Given the description of an element on the screen output the (x, y) to click on. 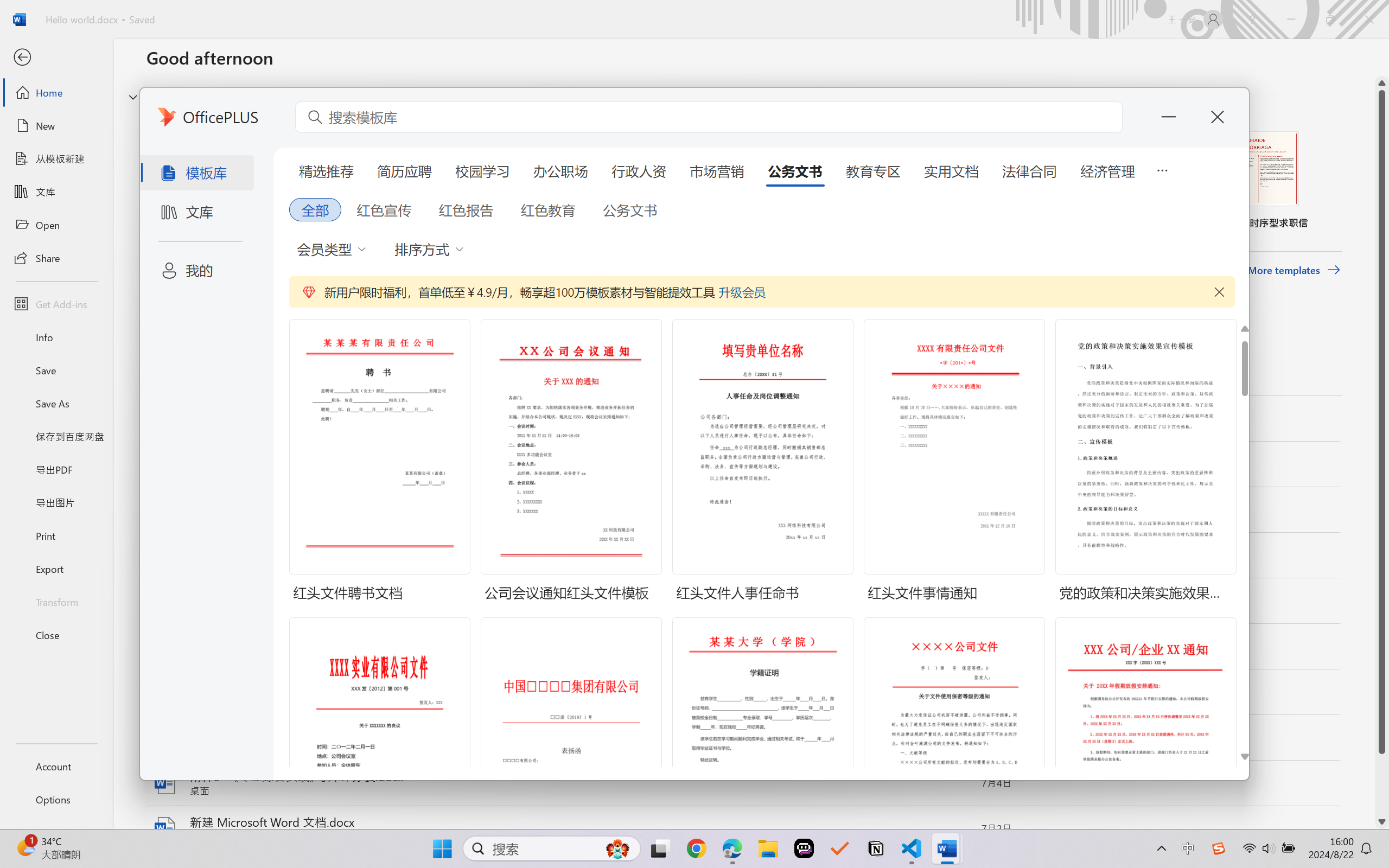
VMware Workstation Pro (31, 597)
Something.md (1340, 591)
2404.05719v1.pdf (1340, 269)
Poe (93, 189)
